Given the description of an element on the screen output the (x, y) to click on. 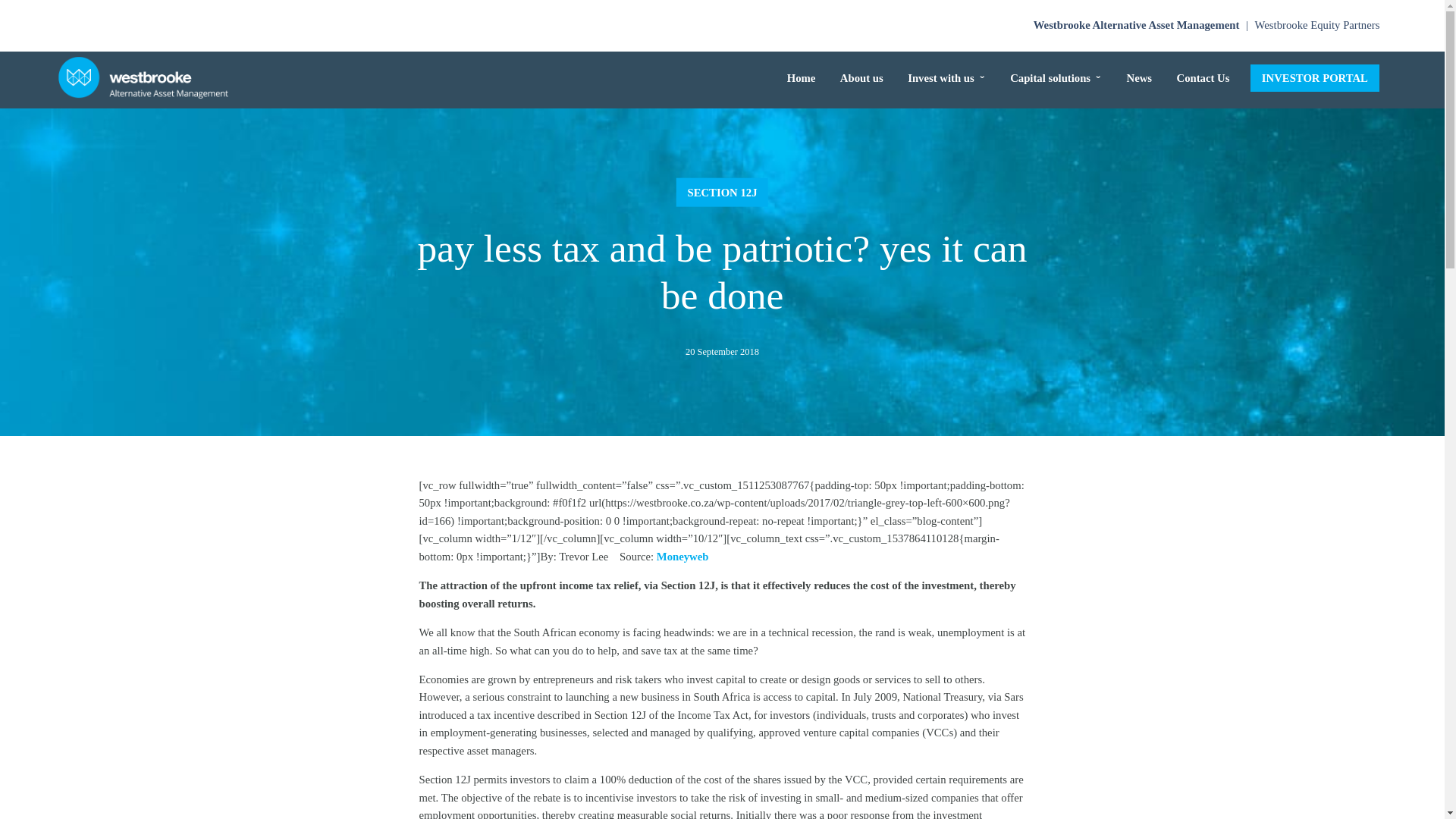
Contact Us (1203, 77)
About us (860, 77)
Westbrooke Equity Partners (1317, 24)
Invest with us (946, 77)
INVESTOR PORTAL (1314, 78)
Capital solutions (1055, 77)
Westbrooke Alternative Asset Management (1136, 24)
